Given the description of an element on the screen output the (x, y) to click on. 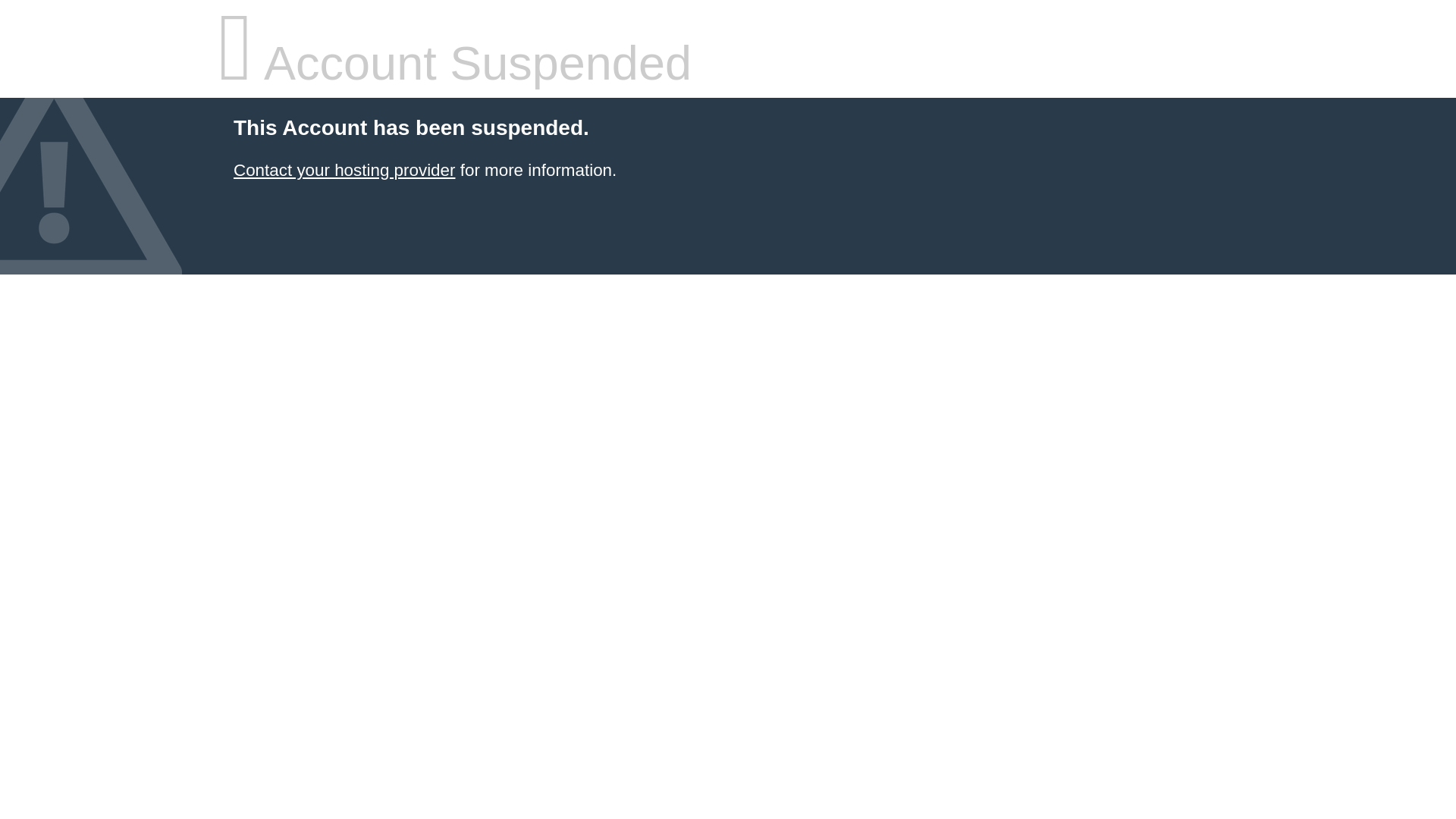
Contact your hosting provider (343, 169)
